Given the description of an element on the screen output the (x, y) to click on. 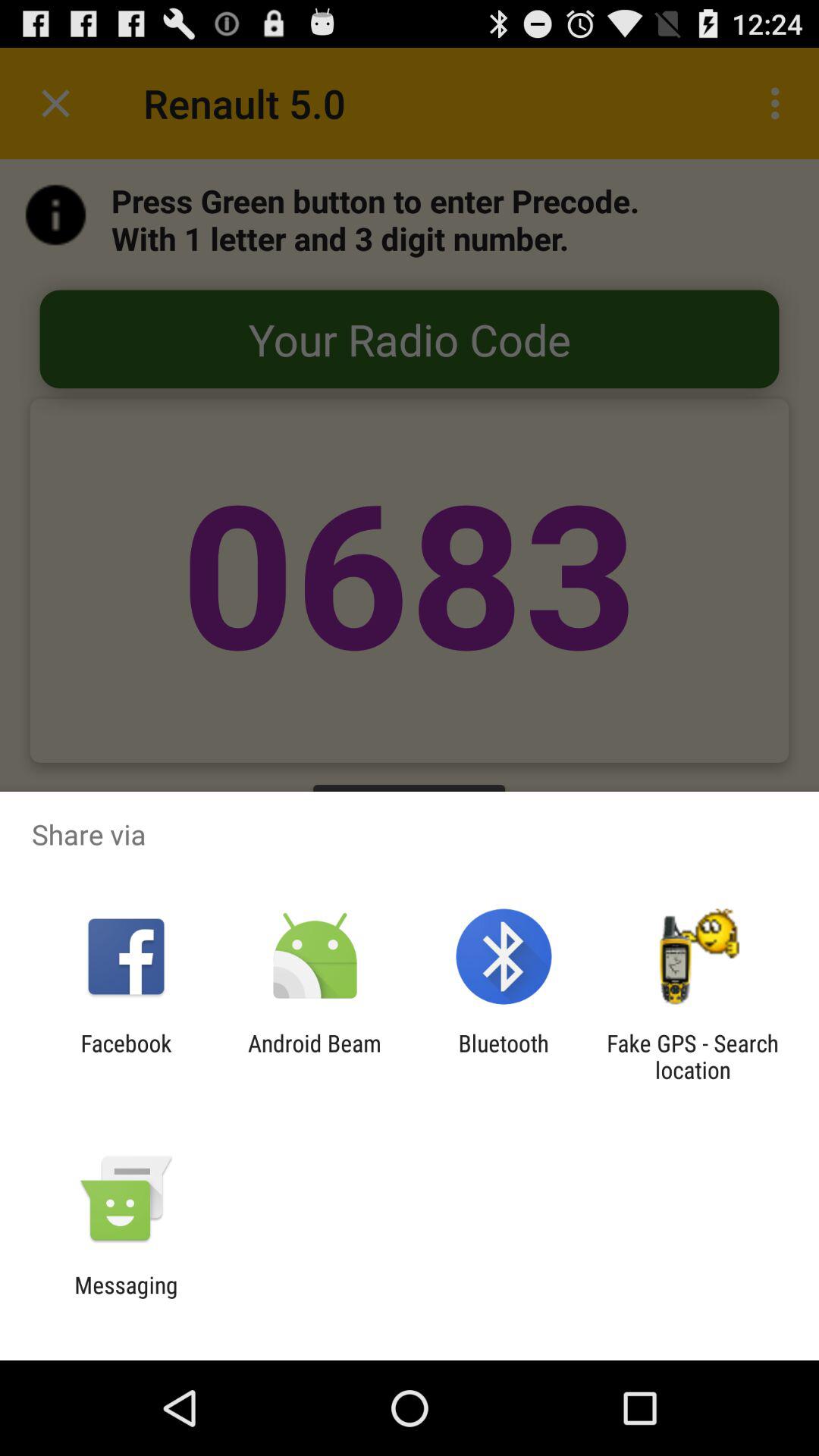
tap app to the right of the bluetooth app (692, 1056)
